Given the description of an element on the screen output the (x, y) to click on. 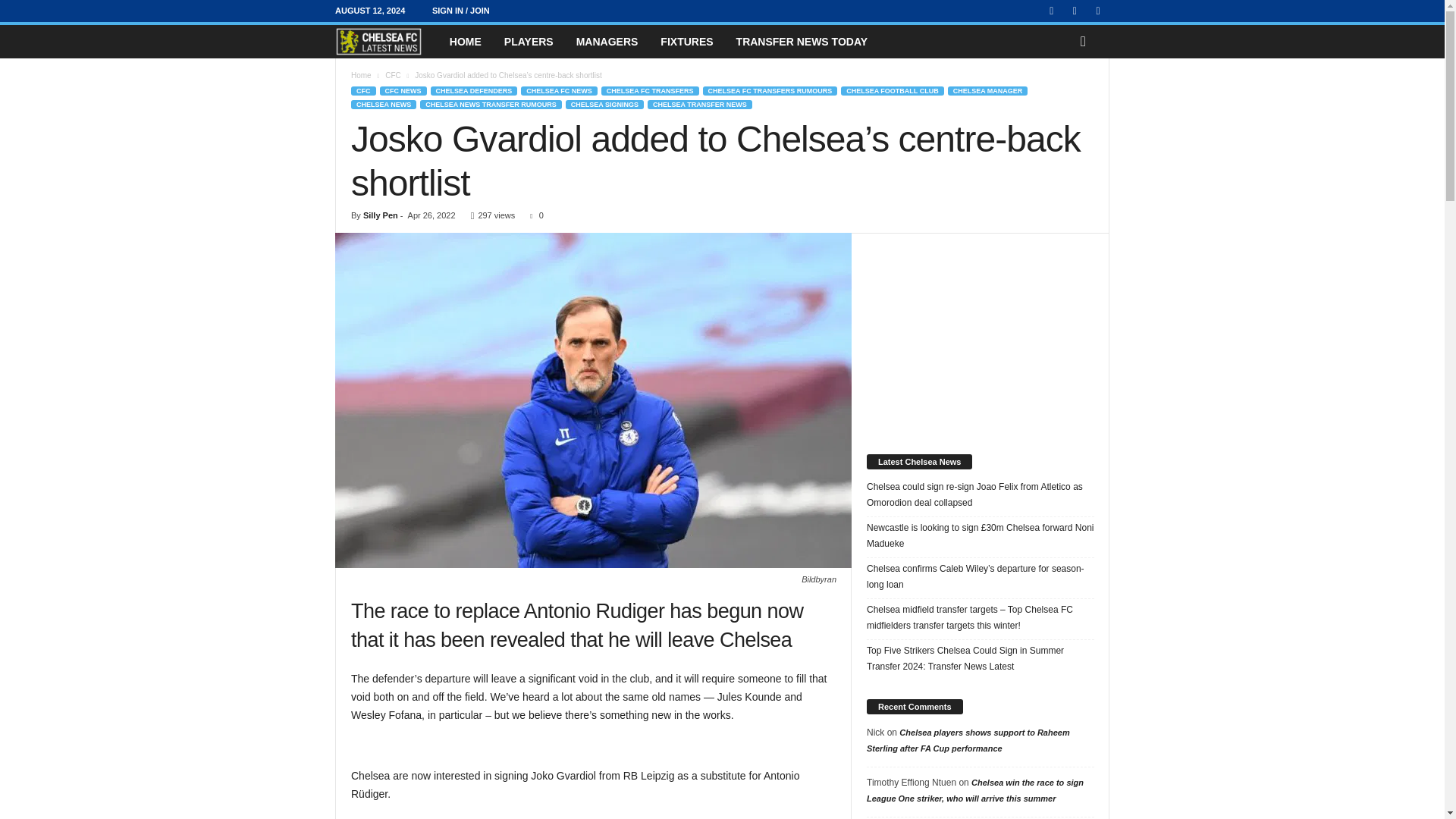
PLAYERS (528, 41)
Chelsea FC Latest News .com (386, 41)
HOME (465, 41)
